Given the description of an element on the screen output the (x, y) to click on. 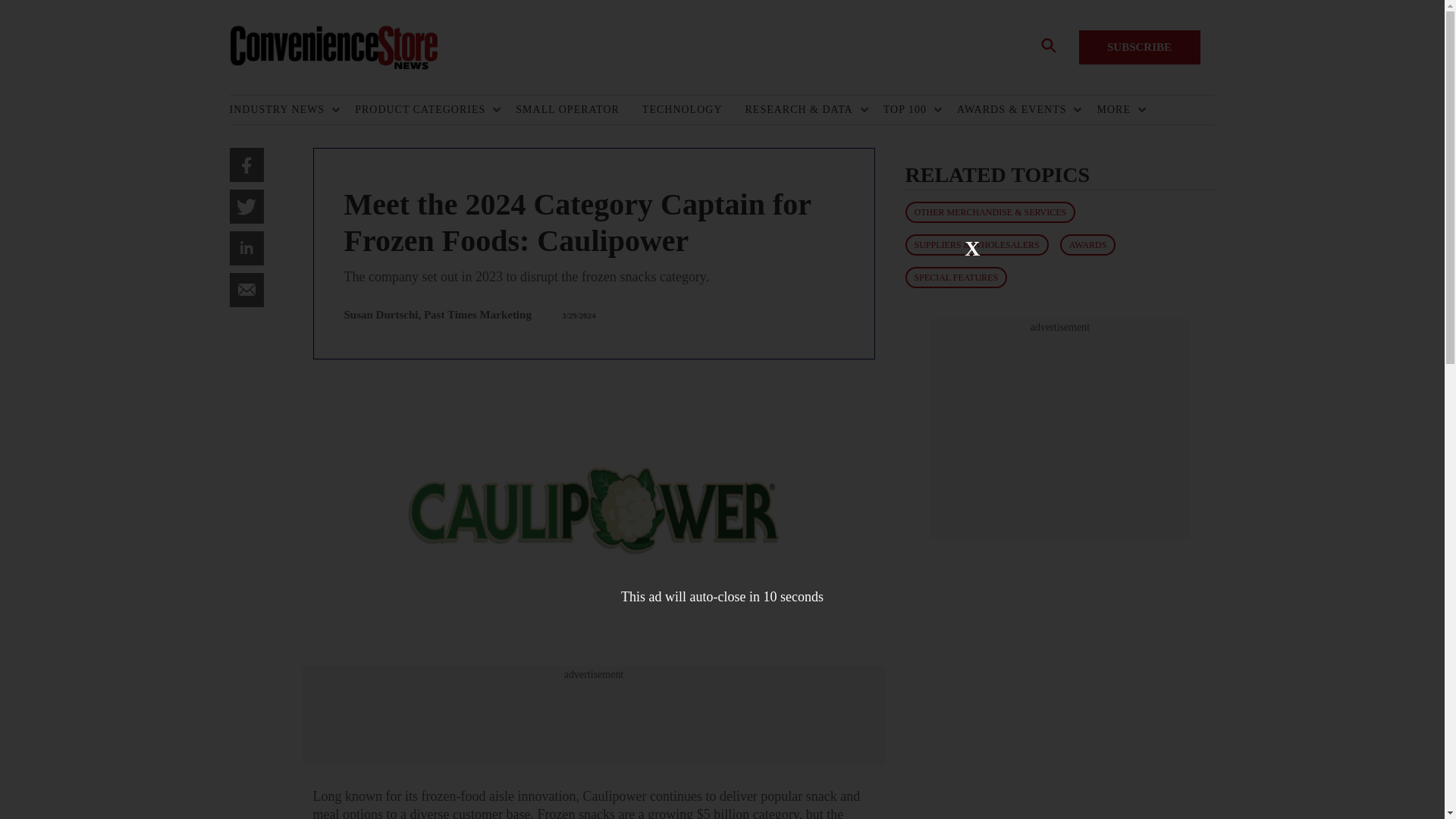
PRODUCT CATEGORIES (424, 109)
SUBSCRIBE (1138, 47)
facebook (245, 164)
3rd party ad content (1059, 429)
email (245, 289)
INDUSTRY NEWS (279, 109)
TECHNOLOGY (693, 109)
twitter (245, 206)
3rd party ad content (593, 715)
linkedIn (245, 247)
SMALL OPERATOR (578, 109)
TOP 100 (908, 109)
